Given the description of an element on the screen output the (x, y) to click on. 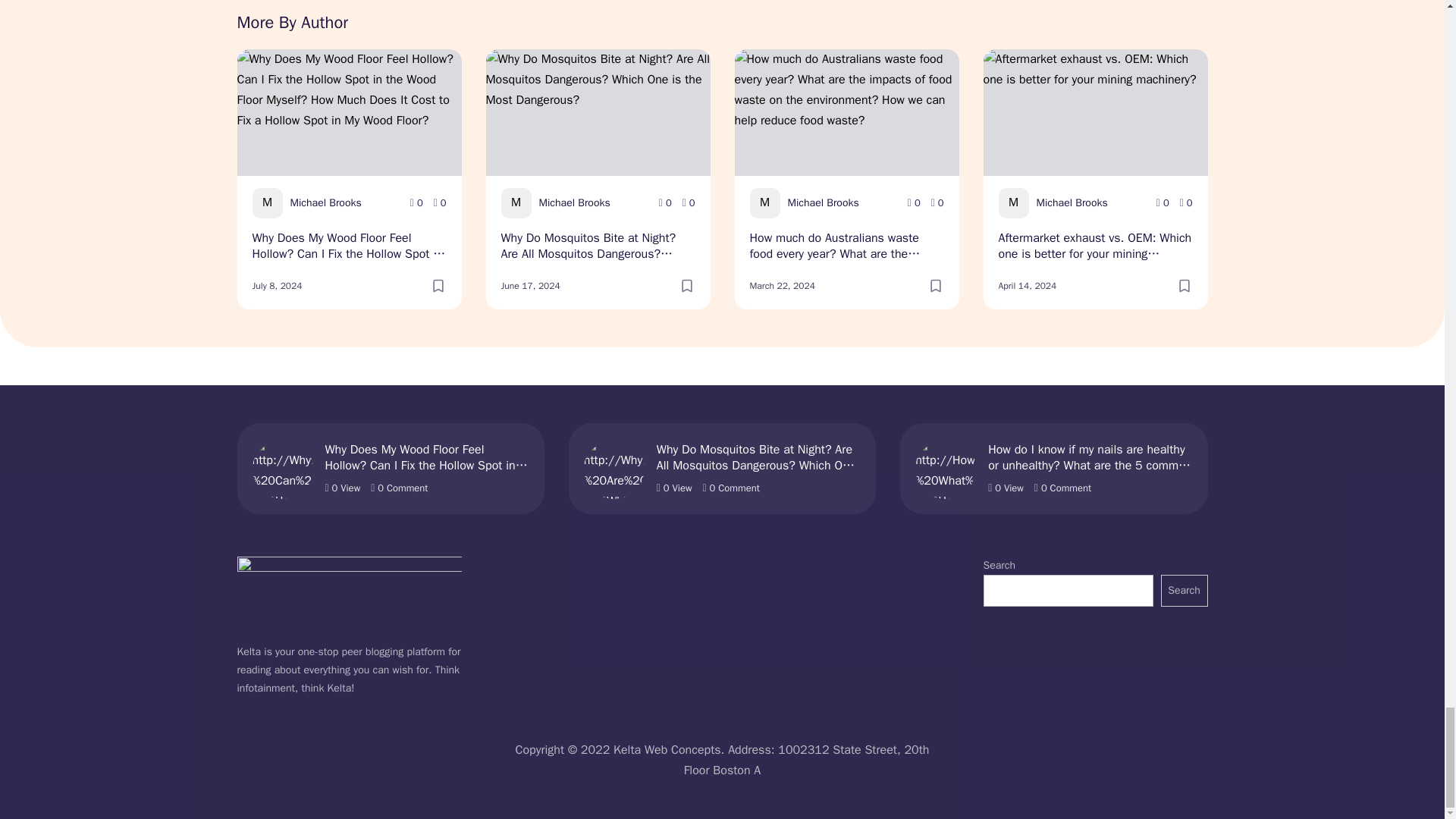
Comment (439, 202)
View (416, 202)
View (665, 202)
Comment (688, 202)
View (913, 202)
